Given the description of an element on the screen output the (x, y) to click on. 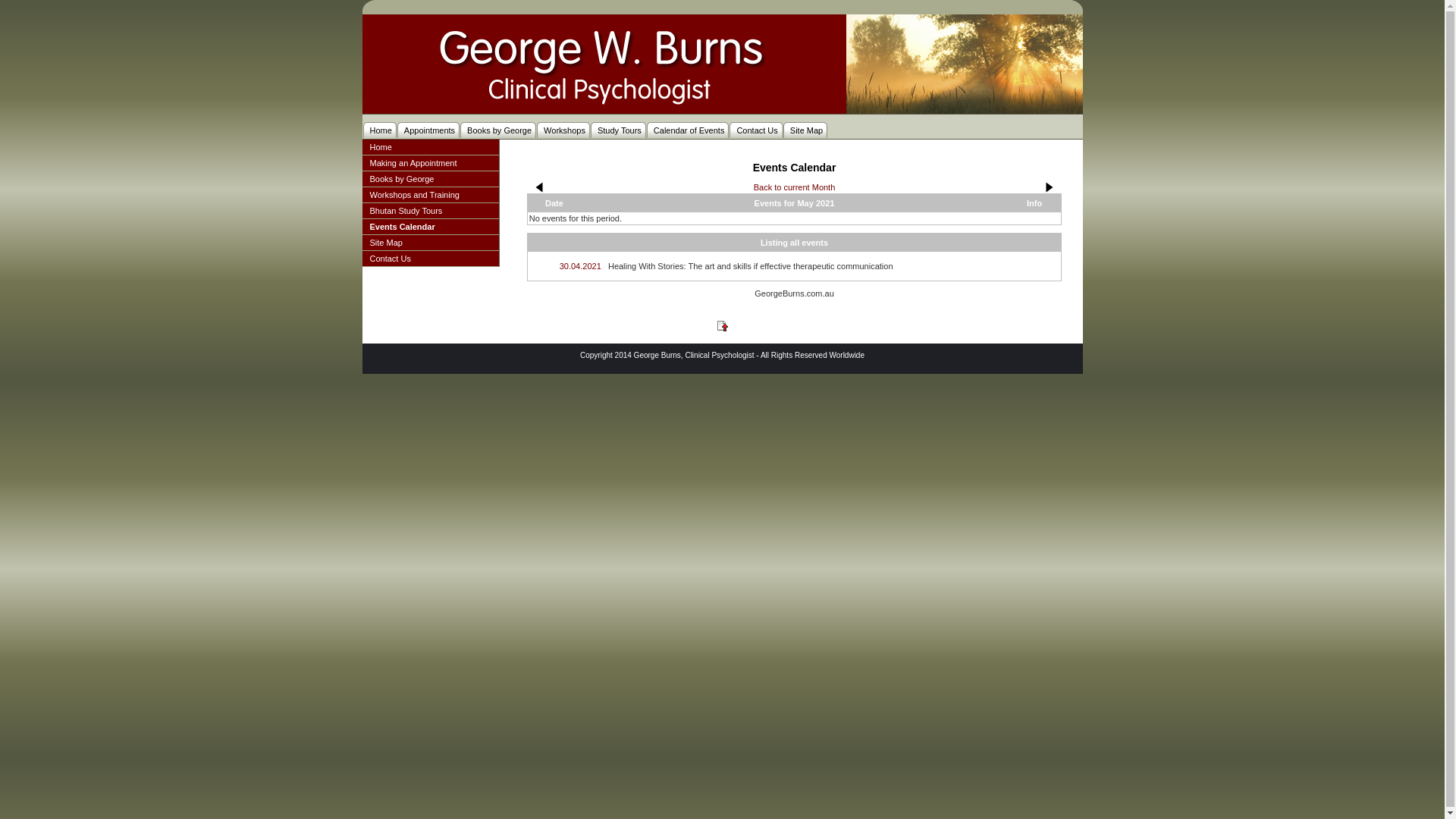
Workshops Element type: text (563, 130)
Contact Us Element type: text (430, 258)
Site Map Element type: text (430, 243)
Books by George Element type: text (498, 130)
30.04.2021 Element type: text (580, 265)
Making an Appointment Element type: text (430, 163)
Site Map Element type: text (805, 130)
Back to current Month Element type: text (794, 186)
Events Calendar Element type: text (430, 227)
Home Element type: text (379, 130)
Contact Us Element type: text (755, 130)
Study Tours Element type: text (618, 130)
Workshops and Training Element type: text (430, 195)
Bhutan Study Tours Element type: text (430, 211)
Calendar of Events Element type: text (688, 130)
Apr 2021 Element type: hover (539, 187)
Appointments Element type: text (428, 130)
Books by George Element type: text (430, 179)
Home Element type: text (430, 147)
Jun 2021 Element type: hover (1048, 187)
